Given the description of an element on the screen output the (x, y) to click on. 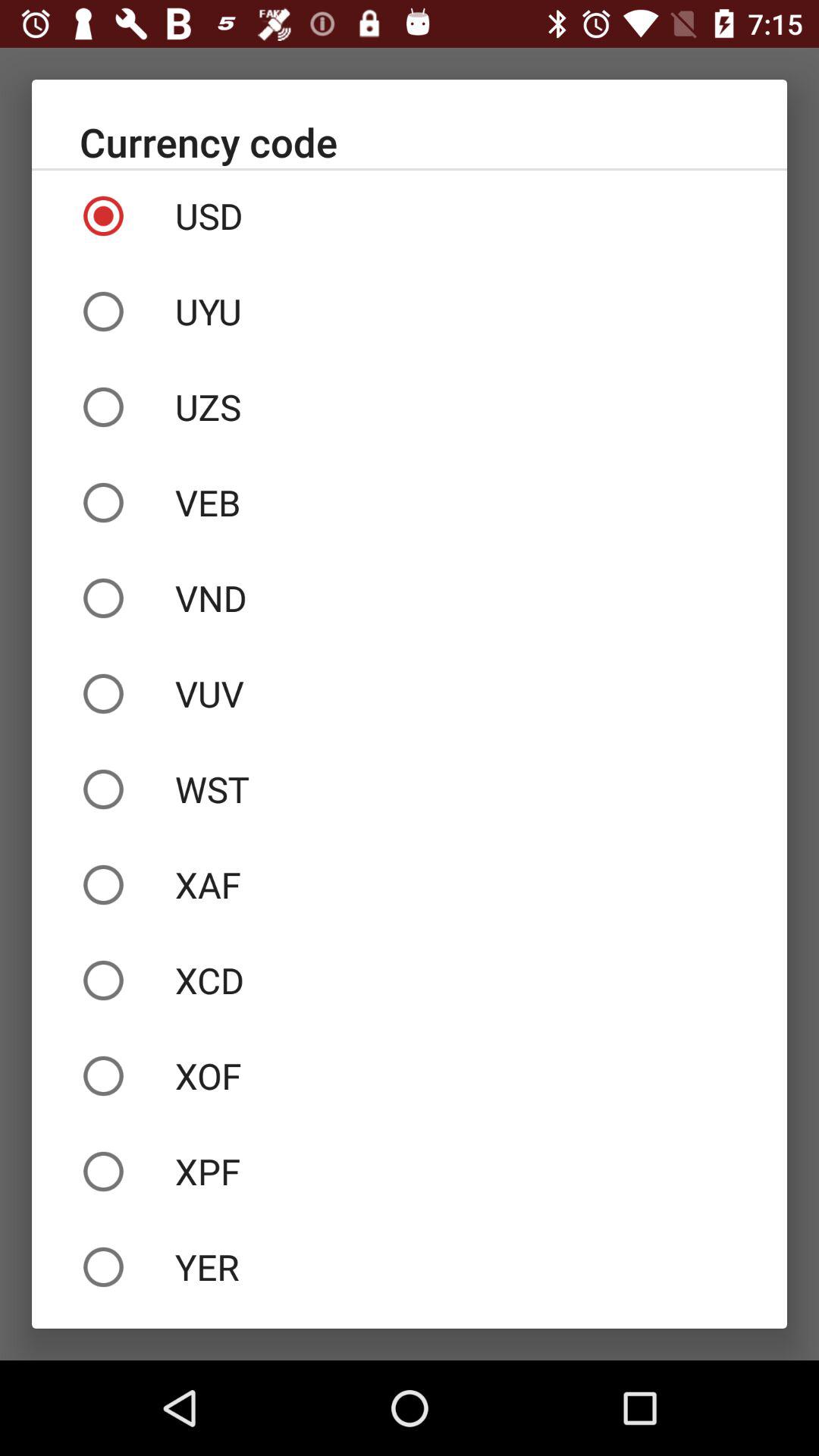
press icon below uyu icon (409, 407)
